Given the description of an element on the screen output the (x, y) to click on. 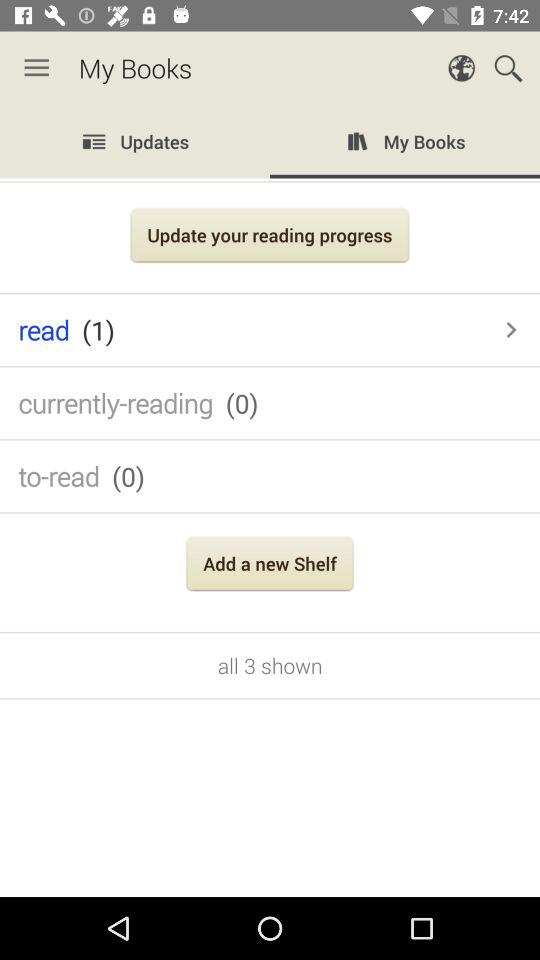
open app to the left of the my books item (36, 68)
